Given the description of an element on the screen output the (x, y) to click on. 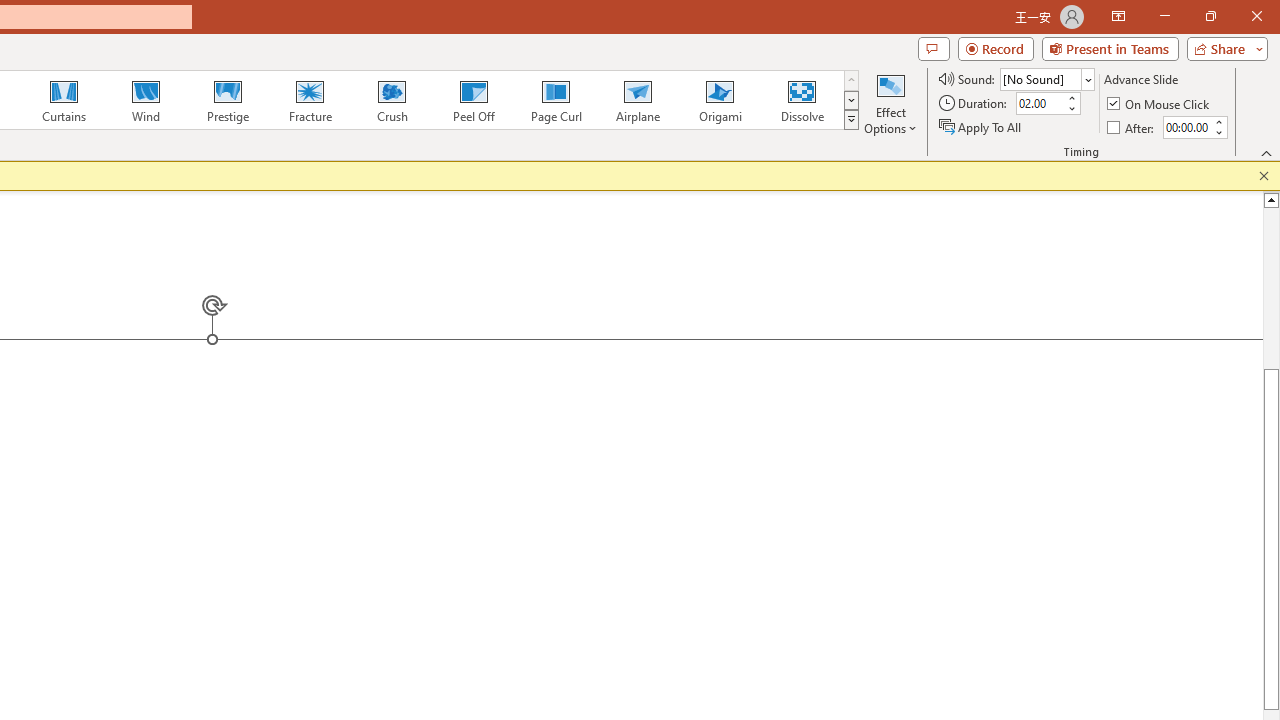
Prestige (227, 100)
More (1218, 121)
After (1131, 126)
Curtains (63, 100)
Effect Options (890, 102)
Apply To All (981, 126)
Sound (1046, 78)
Transition Effects (850, 120)
After (1186, 127)
Fracture (309, 100)
Crush (391, 100)
